Given the description of an element on the screen output the (x, y) to click on. 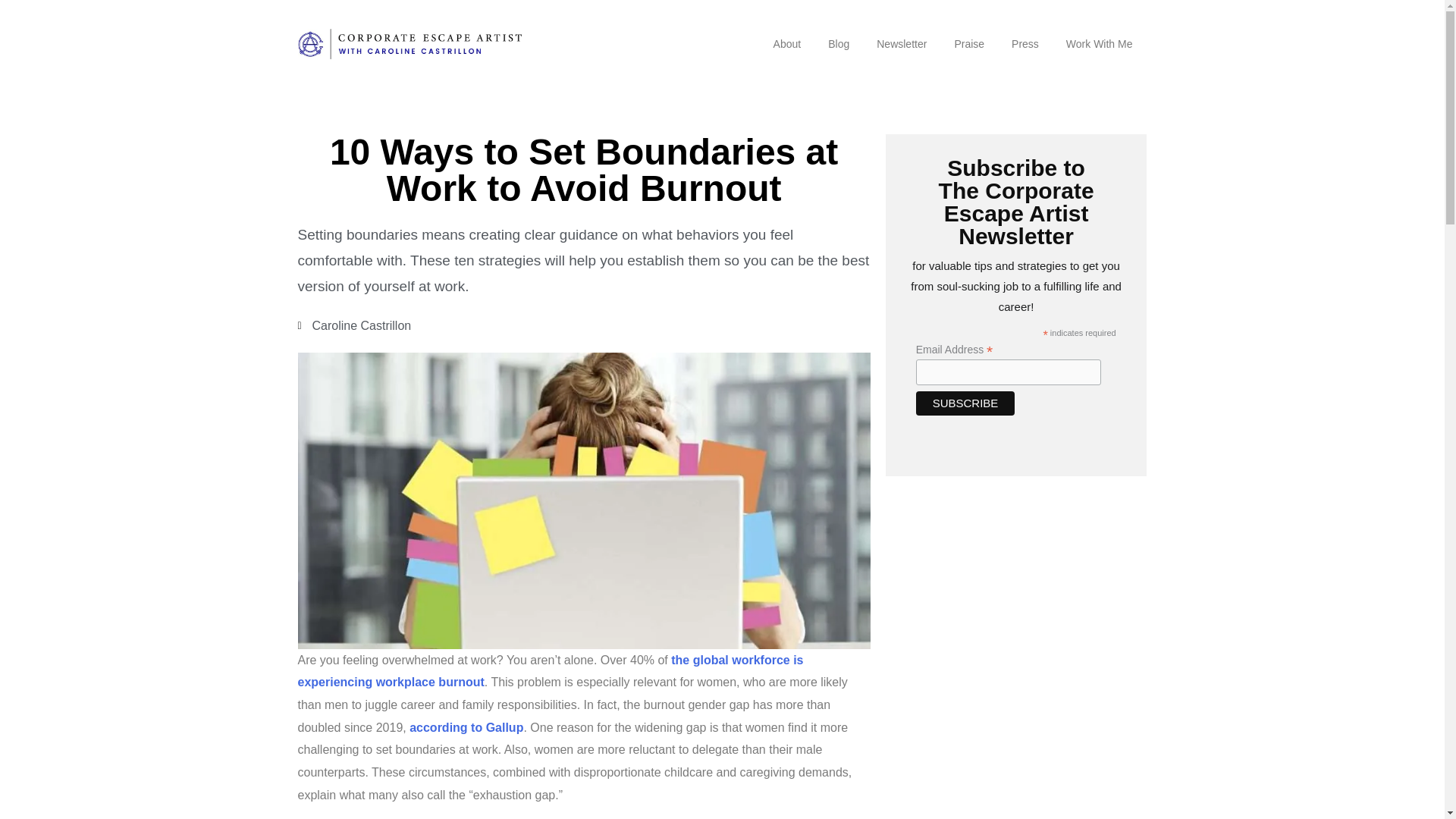
About (787, 43)
Press (1024, 43)
Praise (968, 43)
SUBSCRIBE (964, 403)
according to Gallup (465, 727)
the global workforce is experiencing workplace burnout (550, 671)
Work With Me (1099, 43)
Blog (838, 43)
SUBSCRIBE (964, 403)
Newsletter (901, 43)
